Given the description of an element on the screen output the (x, y) to click on. 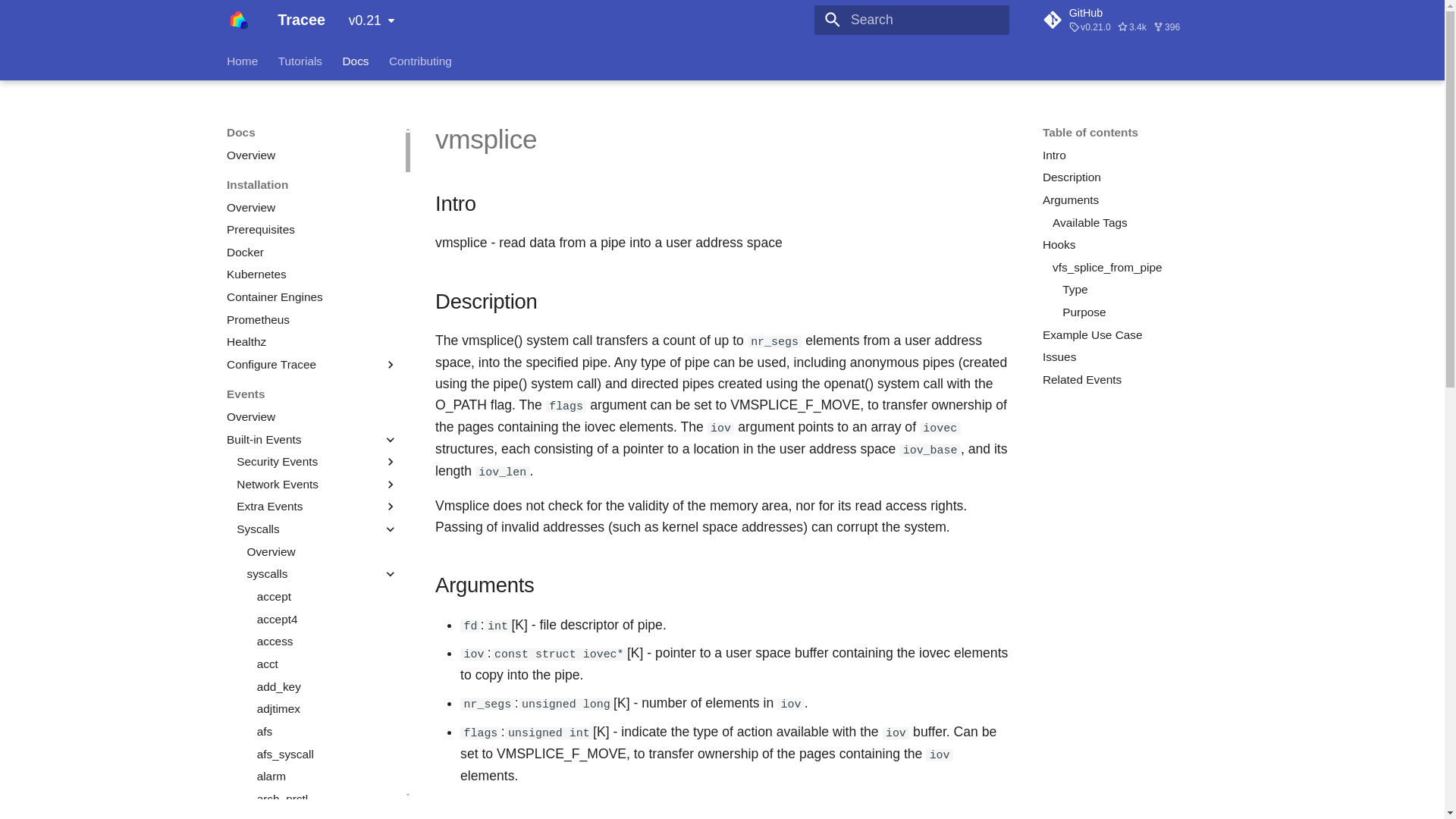
v0.21 (371, 20)
Tracee (238, 19)
Go to repository (1129, 20)
Contributing (419, 60)
Home (242, 60)
Tutorials (299, 60)
Docs (355, 60)
